Given the description of an element on the screen output the (x, y) to click on. 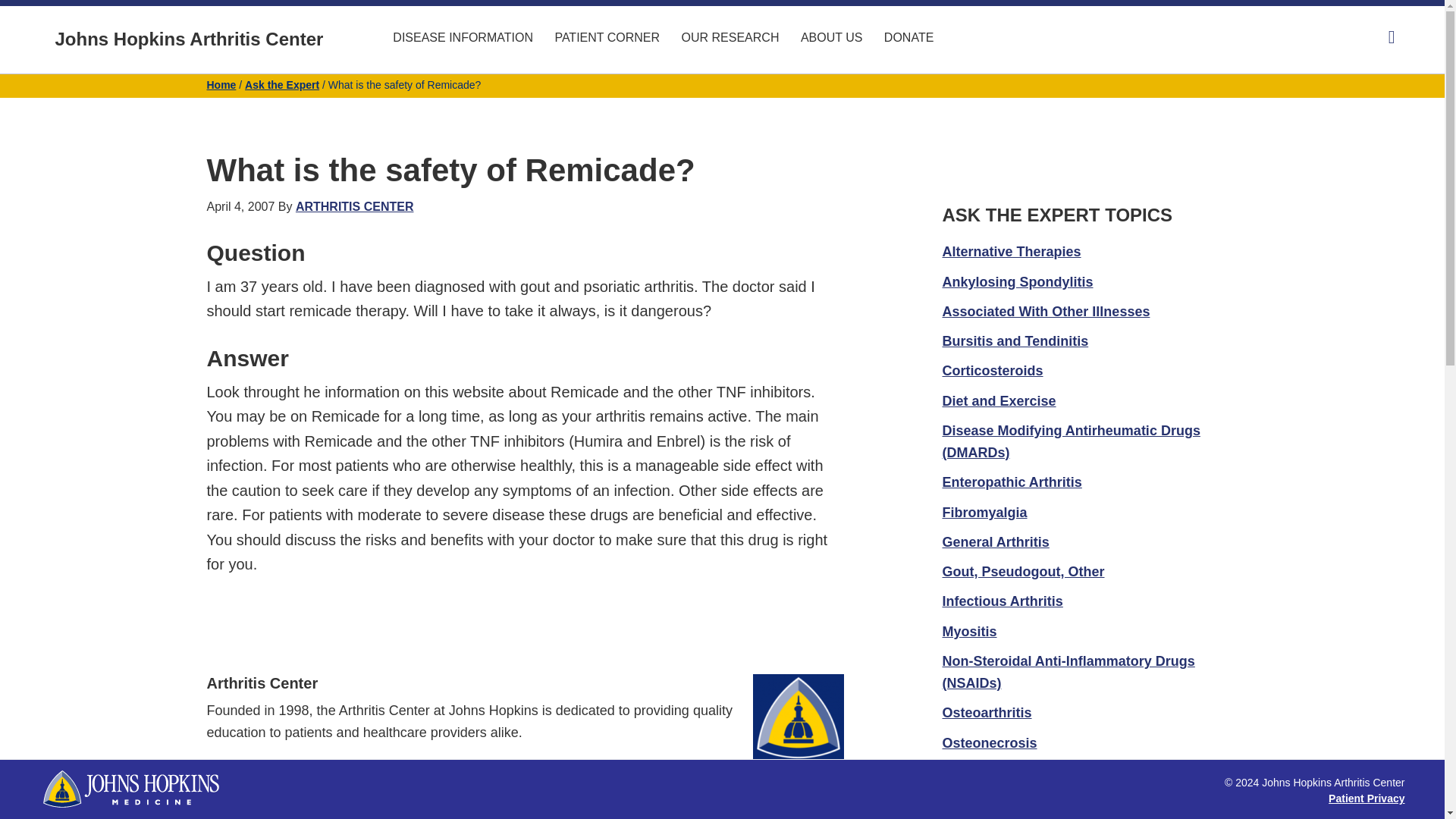
Ask the Expert (281, 84)
Home (220, 84)
Johns Hopkins Arthritis Center (189, 38)
OUR RESEARCH (730, 37)
DONATE (908, 37)
Alternative Therapies (1011, 251)
DISEASE INFORMATION (462, 37)
PATIENT CORNER (606, 37)
ARTHRITIS CENTER (354, 205)
ABOUT US (832, 37)
Ankylosing Spondylitis (1017, 281)
